Given the description of an element on the screen output the (x, y) to click on. 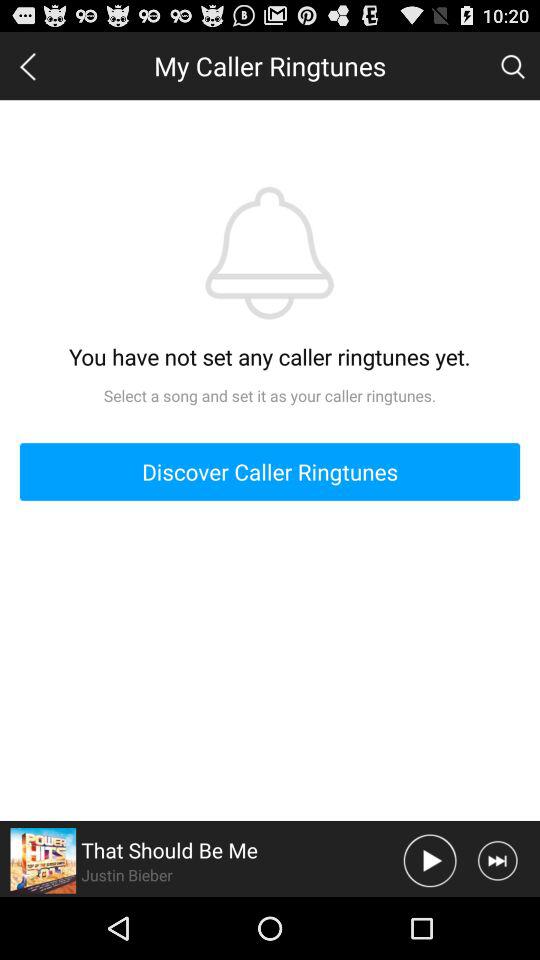
skip song (497, 860)
